Given the description of an element on the screen output the (x, y) to click on. 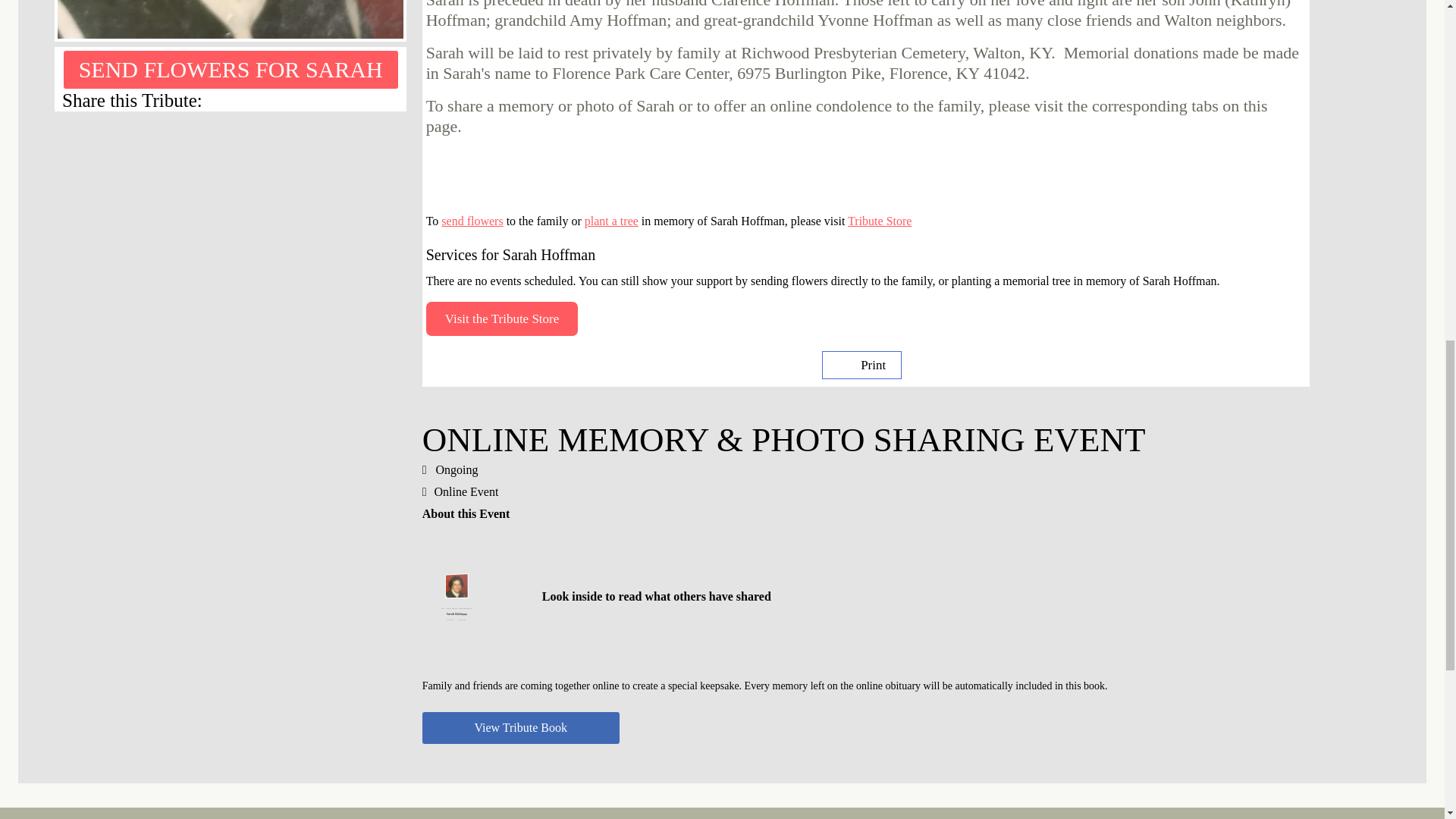
Twitter (376, 99)
Receive Notifications (357, 99)
Print (861, 365)
SEND FLOWERS FOR SARAH (230, 69)
Facebook (395, 99)
